Given the description of an element on the screen output the (x, y) to click on. 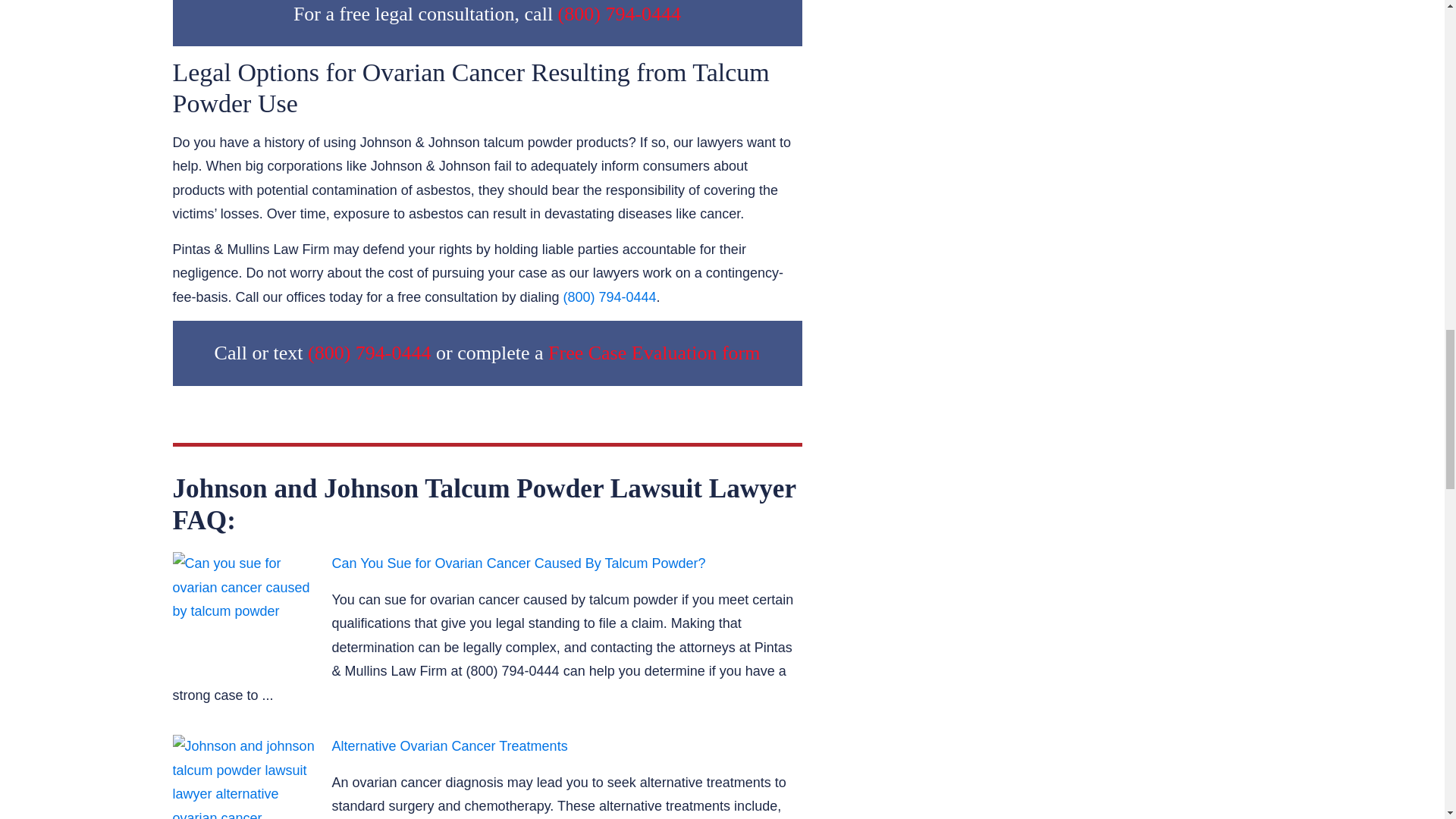
Alternative Ovarian Cancer Treatments (245, 776)
Free Case Evaluation form (654, 352)
Can You Sue for Ovarian Cancer Caused By Talcum Powder? (245, 608)
